Given the description of an element on the screen output the (x, y) to click on. 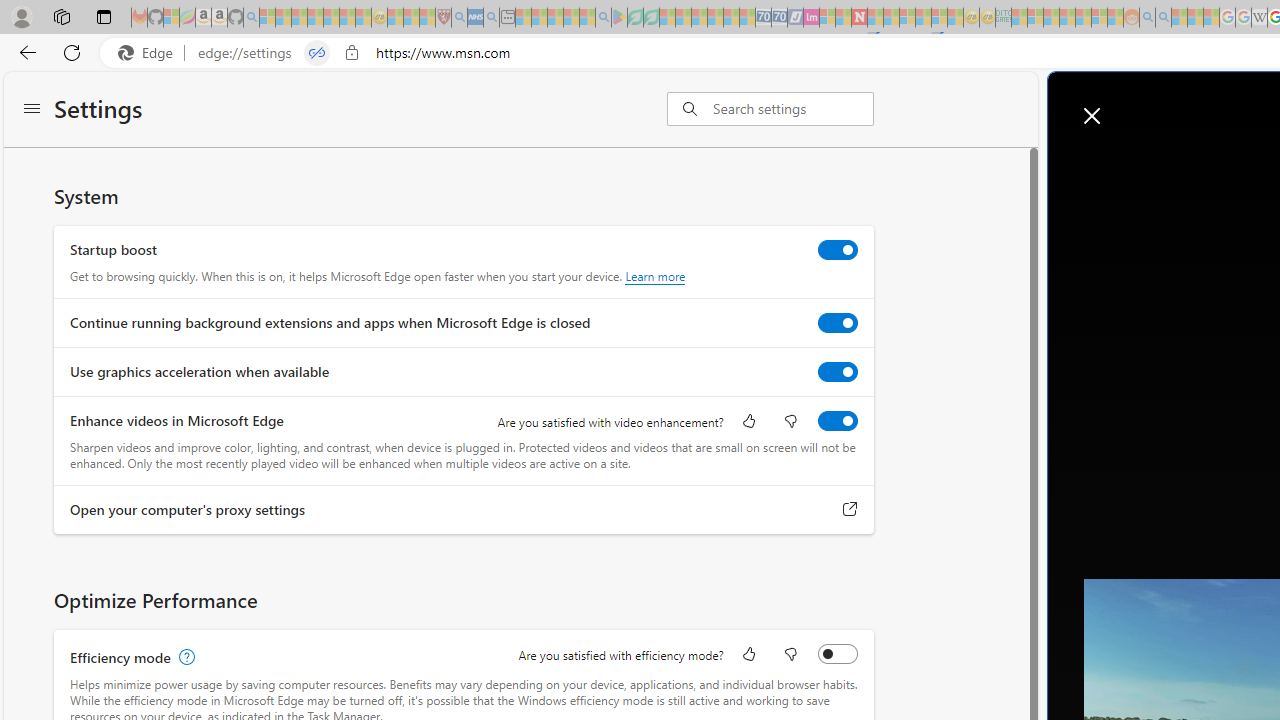
Settings menu (31, 110)
Efficiency mode (837, 653)
Open your computer's proxy settings (849, 509)
